Given the description of an element on the screen output the (x, y) to click on. 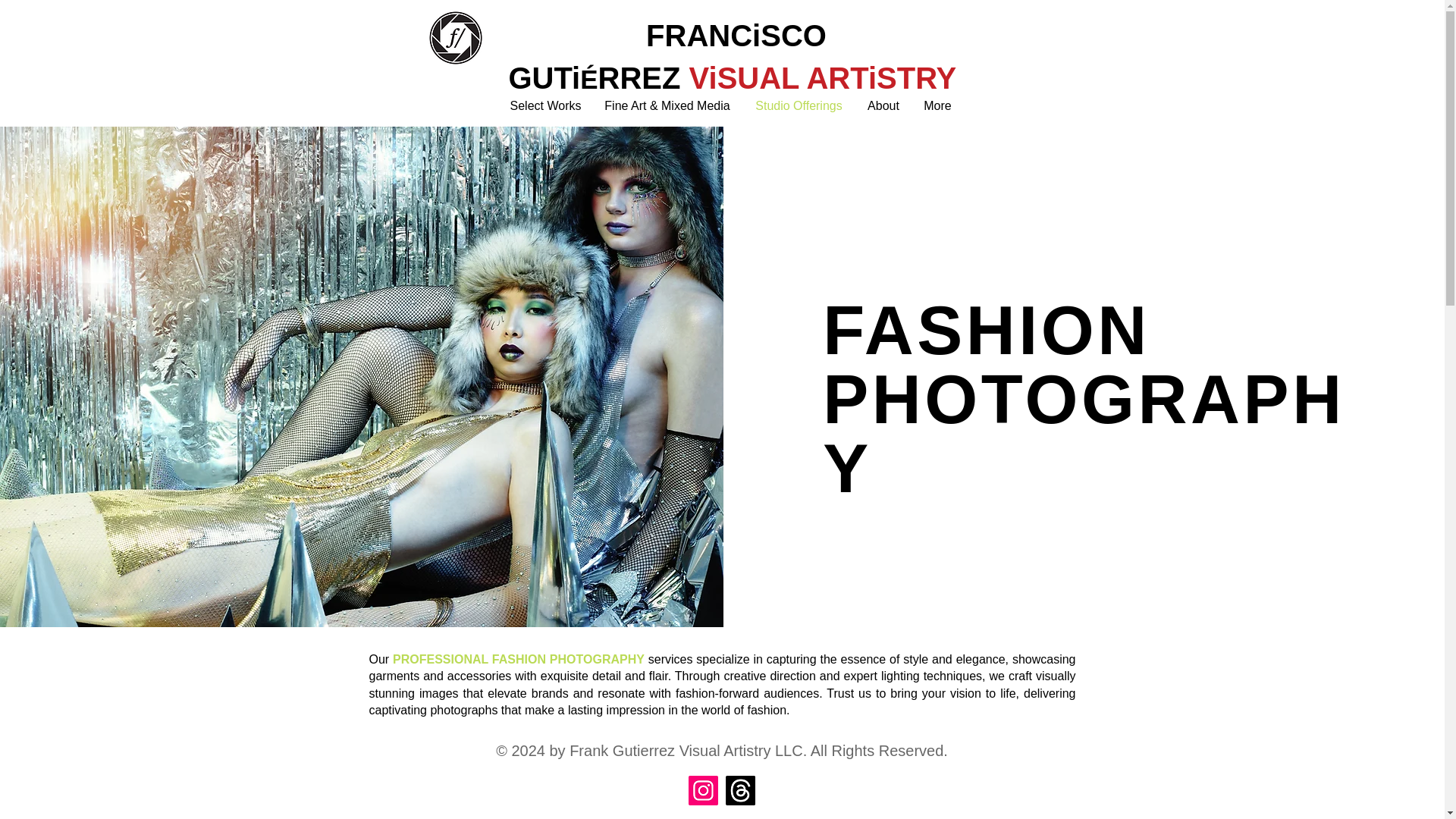
Select Works (545, 105)
Studio Offerings (799, 105)
About (884, 105)
